Given the description of an element on the screen output the (x, y) to click on. 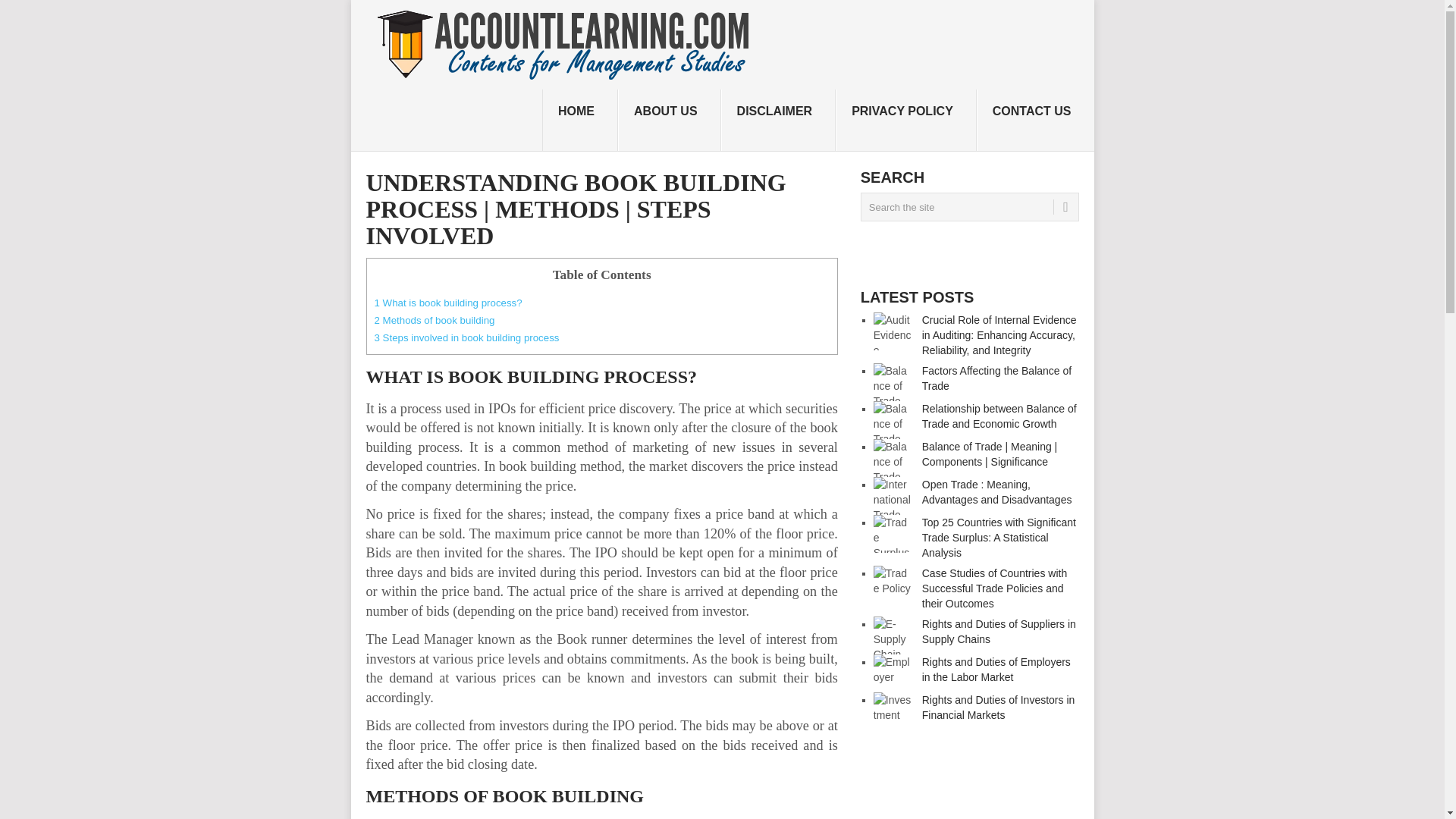
2 Methods of book building (434, 319)
Relationship between Balance of Trade and Economic Growth (999, 415)
PRIVACY POLICY (905, 120)
HOME (579, 120)
DISCLAIMER (777, 120)
Open Trade : Meaning, Advantages and Disadvantages (996, 492)
3 Steps involved in book building process (466, 337)
ABOUT US (668, 120)
